Given the description of an element on the screen output the (x, y) to click on. 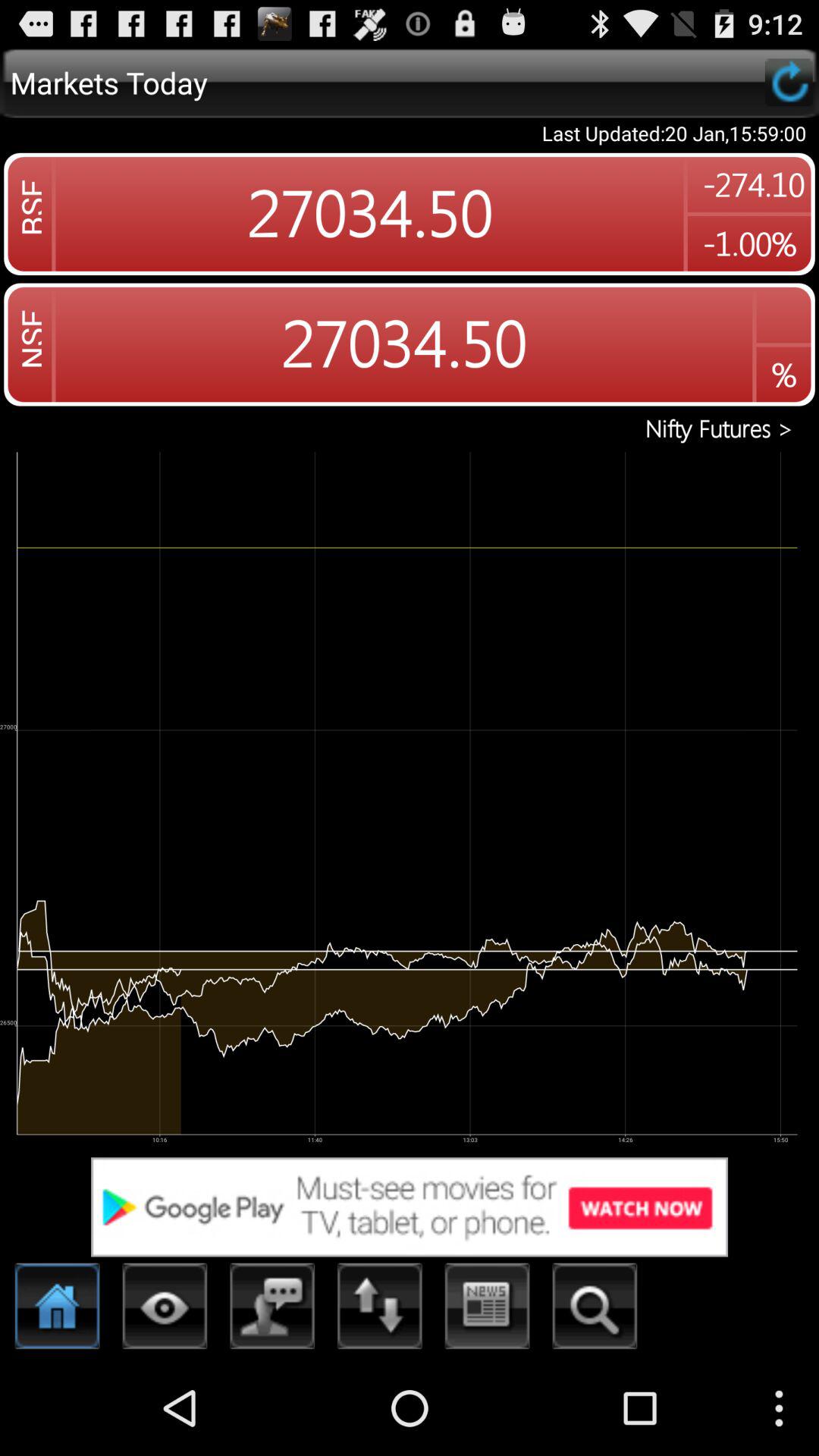
seach (594, 1310)
